Given the description of an element on the screen output the (x, y) to click on. 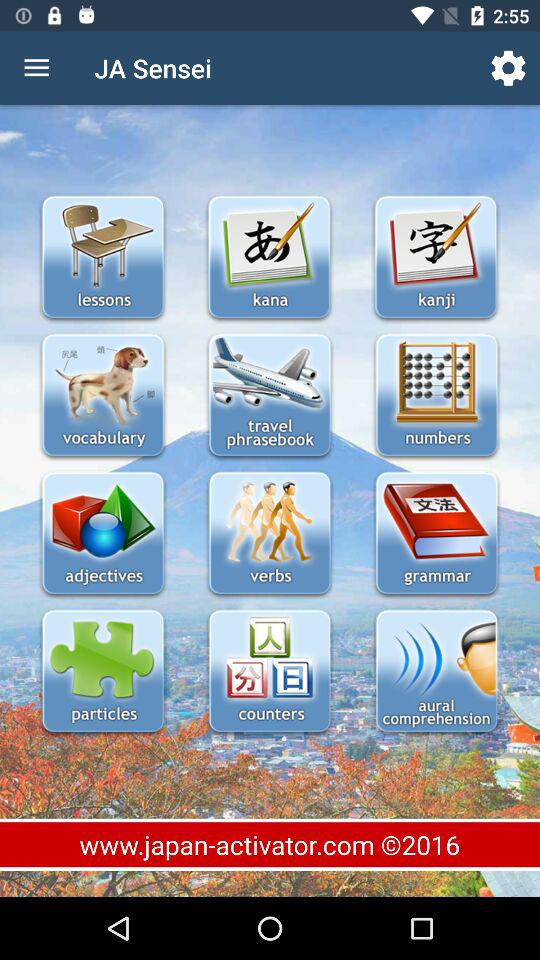
counters (269, 672)
